Given the description of an element on the screen output the (x, y) to click on. 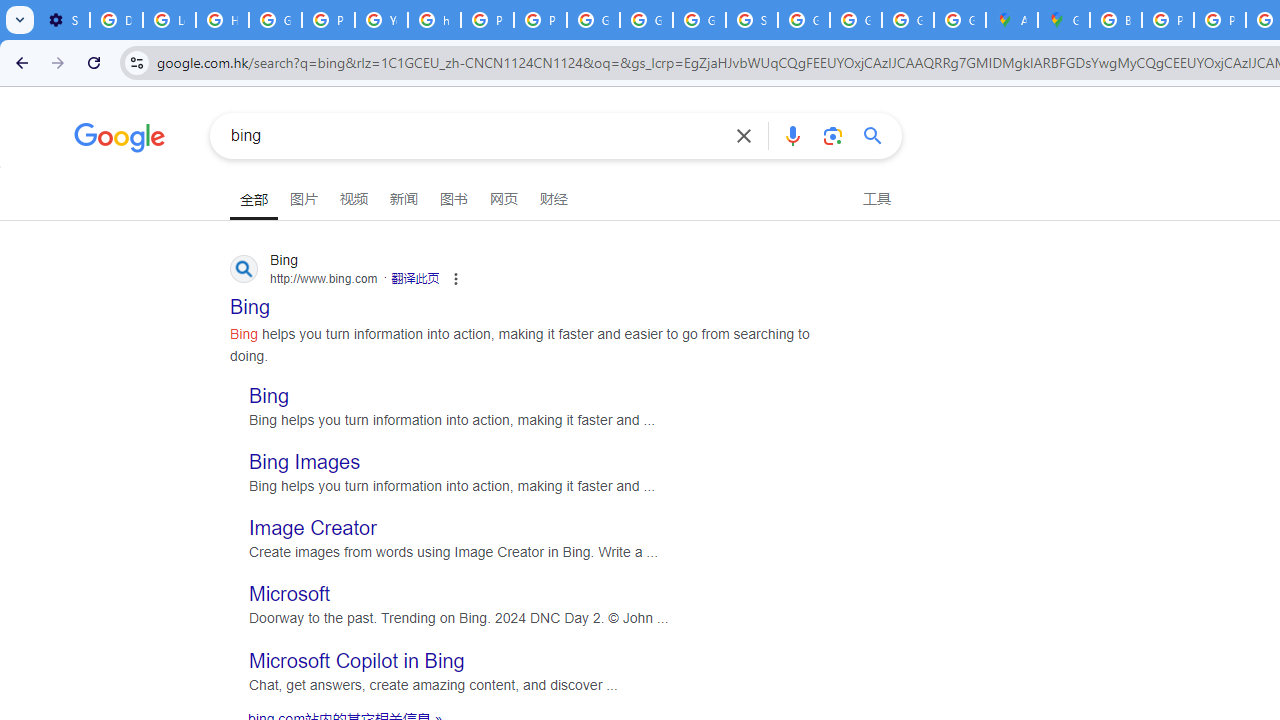
YouTube (381, 20)
Privacy Help Center - Policies Help (1219, 20)
Privacy Help Center - Policies Help (487, 20)
Microsoft (290, 594)
Image Creator (313, 528)
Google Account Help (275, 20)
